Given the description of an element on the screen output the (x, y) to click on. 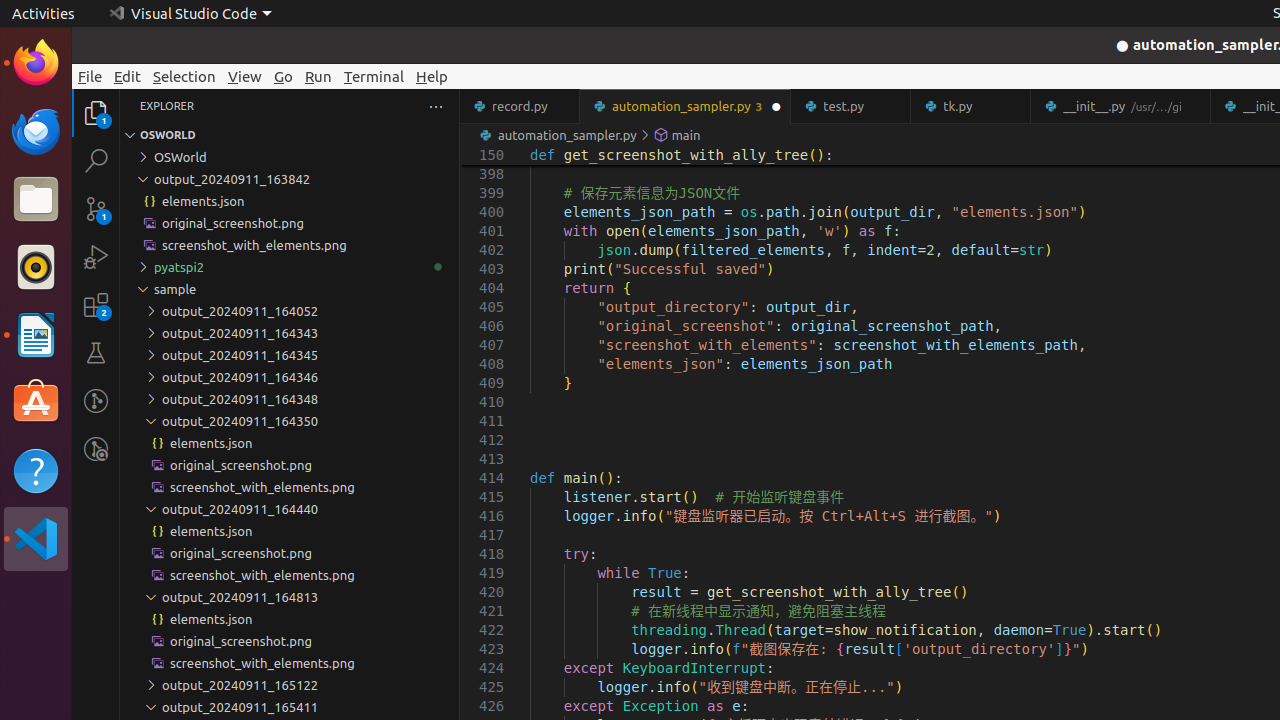
output_20240911_164348 Element type: tree-item (289, 399)
output_20240911_164346 Element type: tree-item (289, 377)
